Given the description of an element on the screen output the (x, y) to click on. 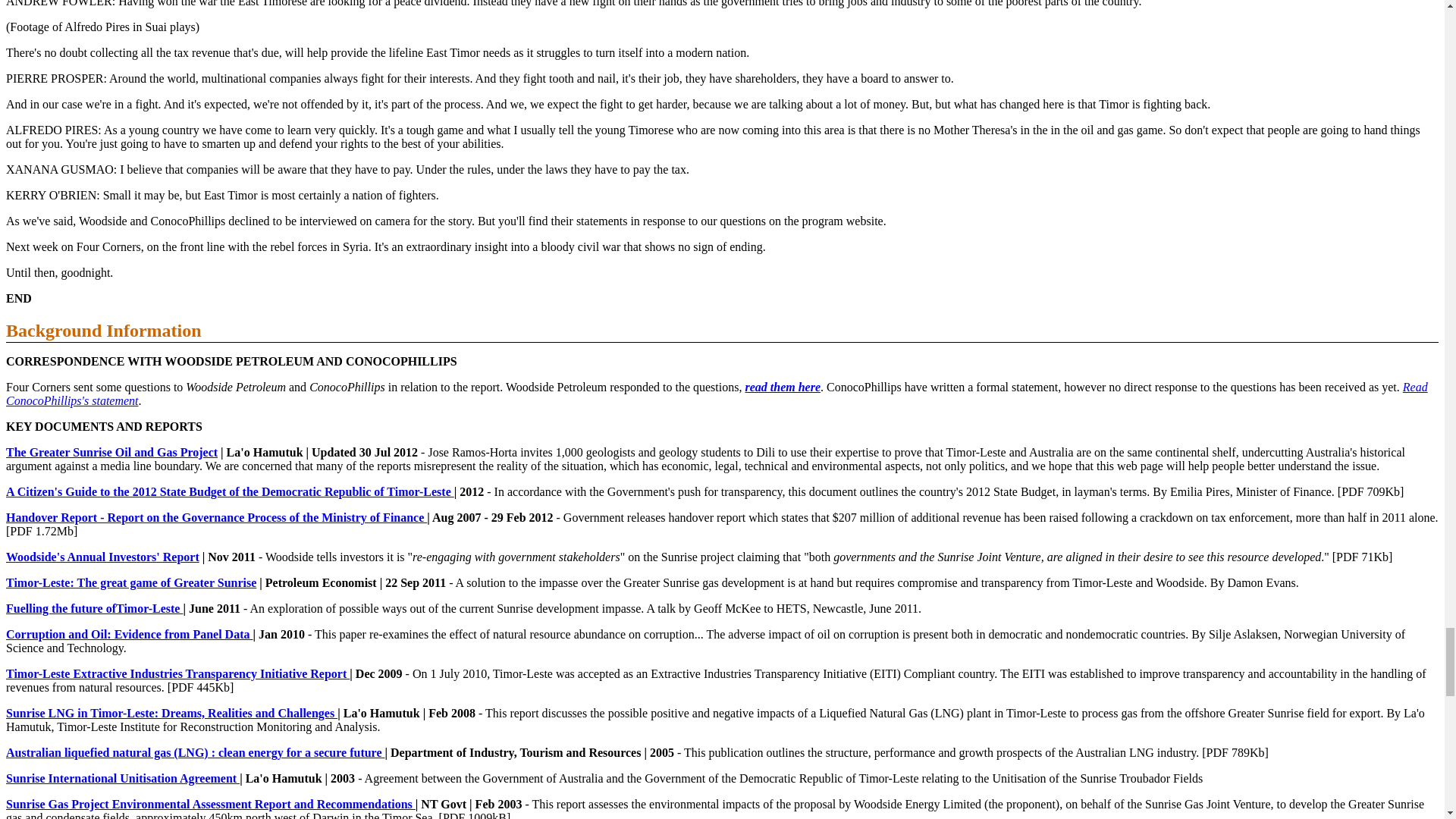
Woodside's Annual Investors' Report (102, 556)
Fuelling the future ofTimor-Leste (94, 608)
Corruption and Oil: Evidence from Panel Data (128, 634)
Background (53, 330)
Read ConocoPhillips's statement (716, 393)
read them here (782, 386)
Timor-Leste: The great game of Greater Sunrise (130, 582)
Sunrise LNG in Timor-Leste: Dreams, Realities and Challenges (171, 712)
Sunrise International Unitisation Agreement (122, 778)
The Greater Sunrise Oil and Gas Project (110, 451)
